Given the description of an element on the screen output the (x, y) to click on. 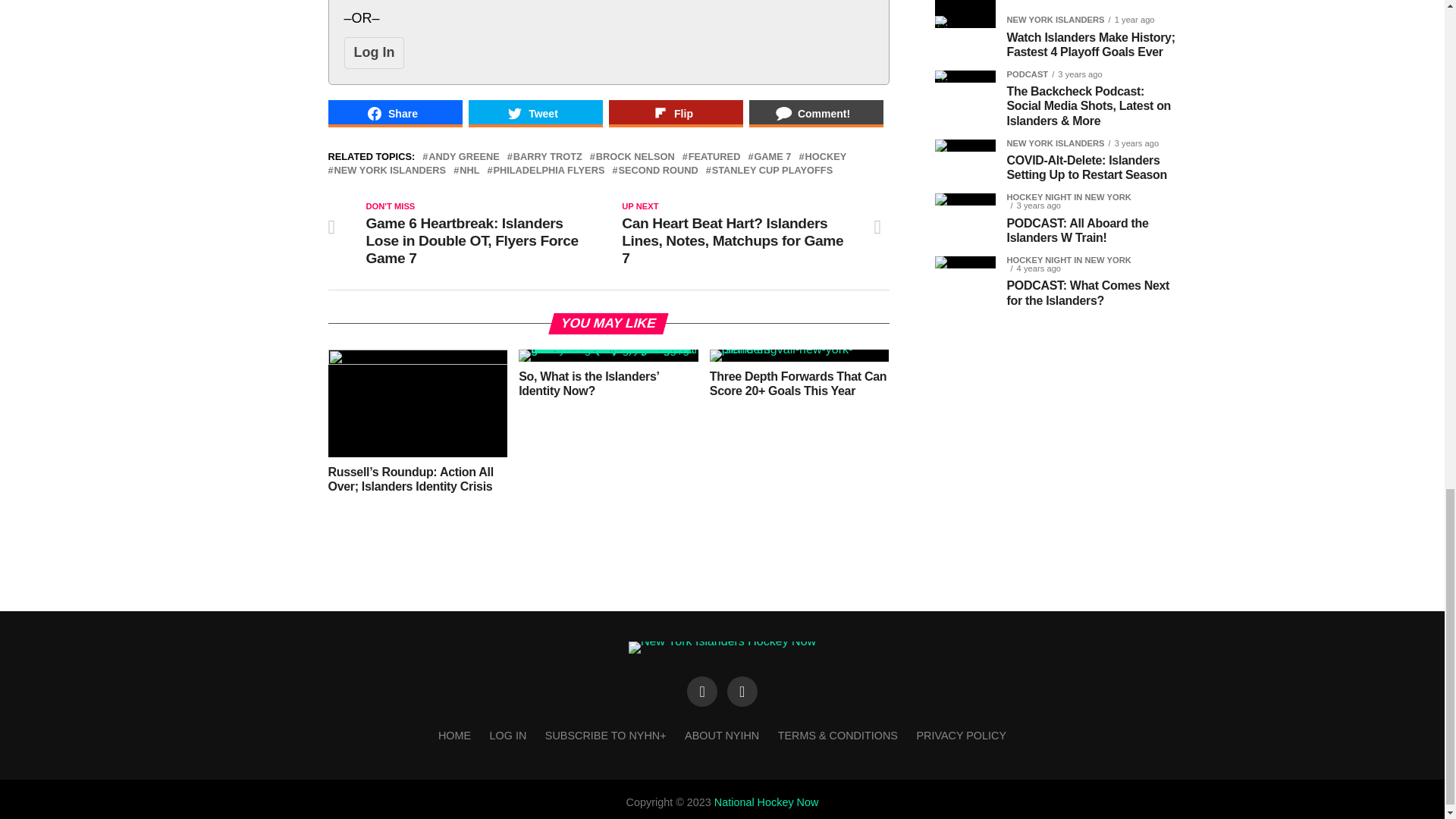
Share on Tweet (535, 113)
Share on Flip (675, 113)
Share on Comment! (816, 113)
Share on Share (394, 113)
